Given the description of an element on the screen output the (x, y) to click on. 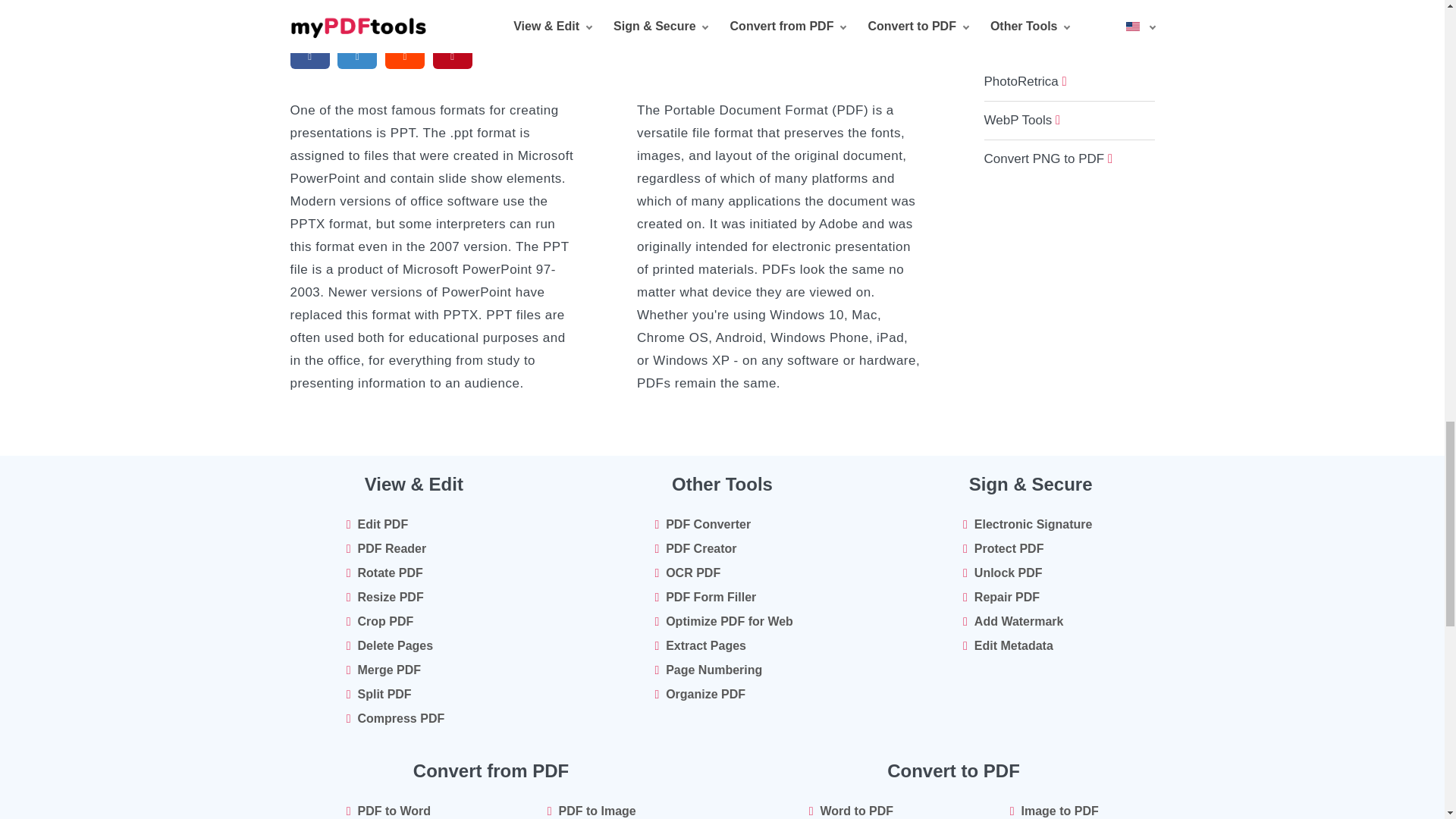
Facebook (309, 56)
Pinterest (452, 56)
Twitter (356, 56)
Reddit (404, 56)
